Given the description of an element on the screen output the (x, y) to click on. 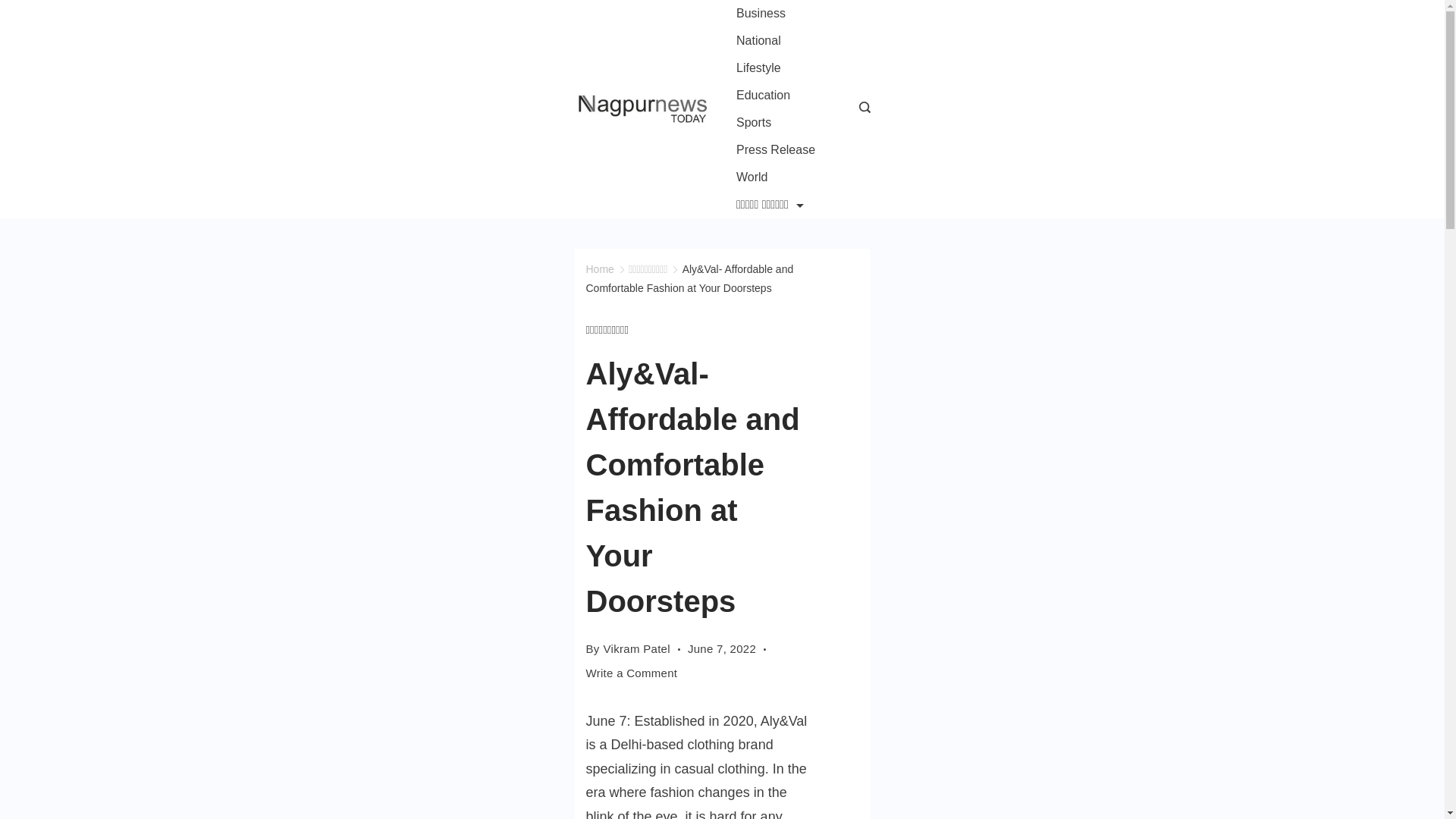
Business (761, 13)
World (752, 176)
Press Release (775, 149)
Lifestyle (759, 67)
National (759, 40)
Vikram Patel (636, 648)
Sports (753, 122)
Home (598, 268)
Education (763, 94)
